Given the description of an element on the screen output the (x, y) to click on. 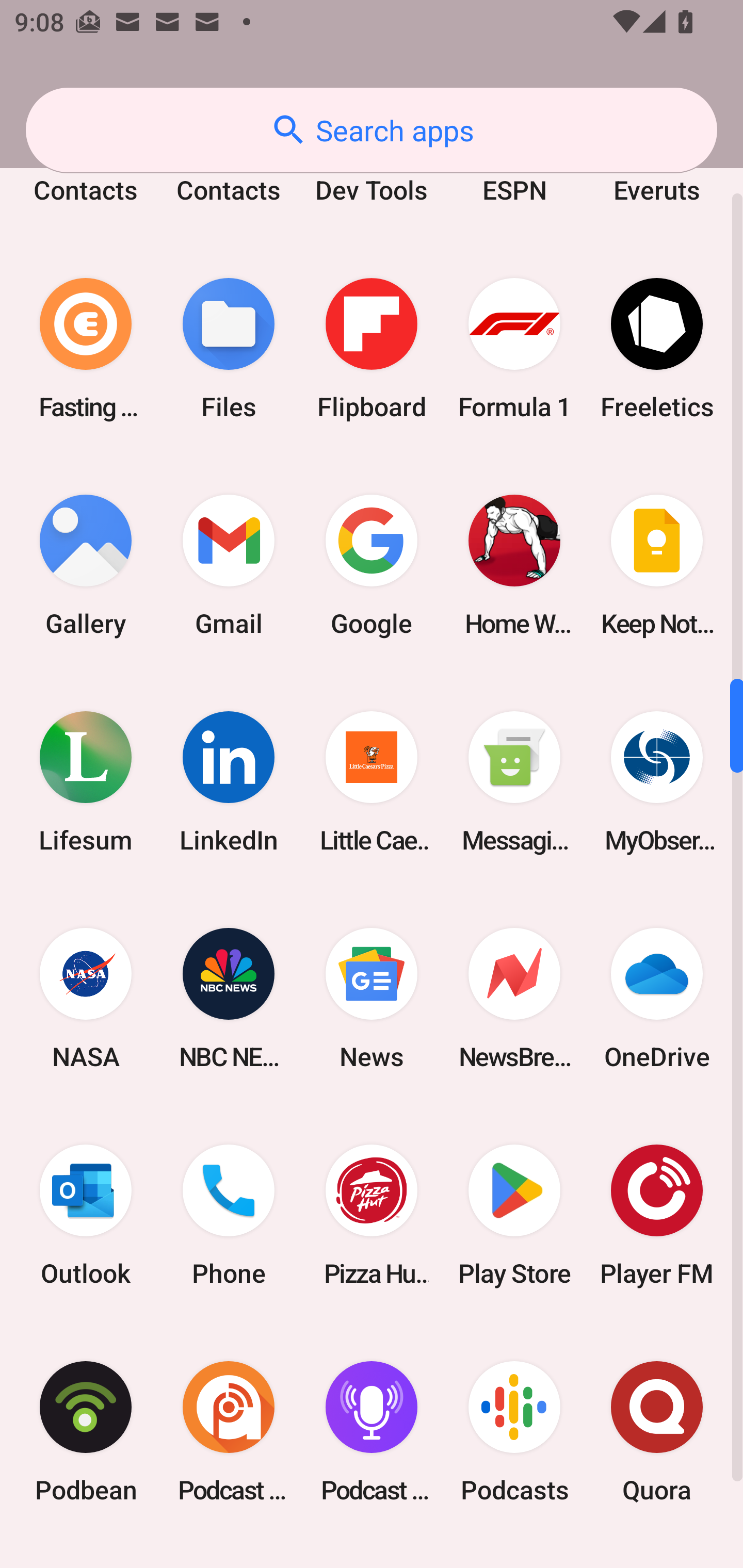
  Search apps (371, 130)
Fasting Coach (85, 347)
Files (228, 347)
Flipboard (371, 347)
Formula 1 (514, 347)
Freeletics (656, 347)
Gallery (85, 565)
Gmail (228, 565)
Google (371, 565)
Home Workout (514, 565)
Keep Notes (656, 565)
Lifesum (85, 782)
LinkedIn (228, 782)
Little Caesars Pizza (371, 782)
Messaging (514, 782)
MyObservatory (656, 782)
NASA (85, 998)
NBC NEWS (228, 998)
News (371, 998)
NewsBreak (514, 998)
OneDrive (656, 998)
Outlook (85, 1215)
Phone (228, 1215)
Pizza Hut HK & Macau (371, 1215)
Play Store (514, 1215)
Player FM (656, 1215)
Podbean (85, 1431)
Podcast Addict (228, 1431)
Podcast Player (371, 1431)
Podcasts (514, 1431)
Quora (656, 1431)
